Given the description of an element on the screen output the (x, y) to click on. 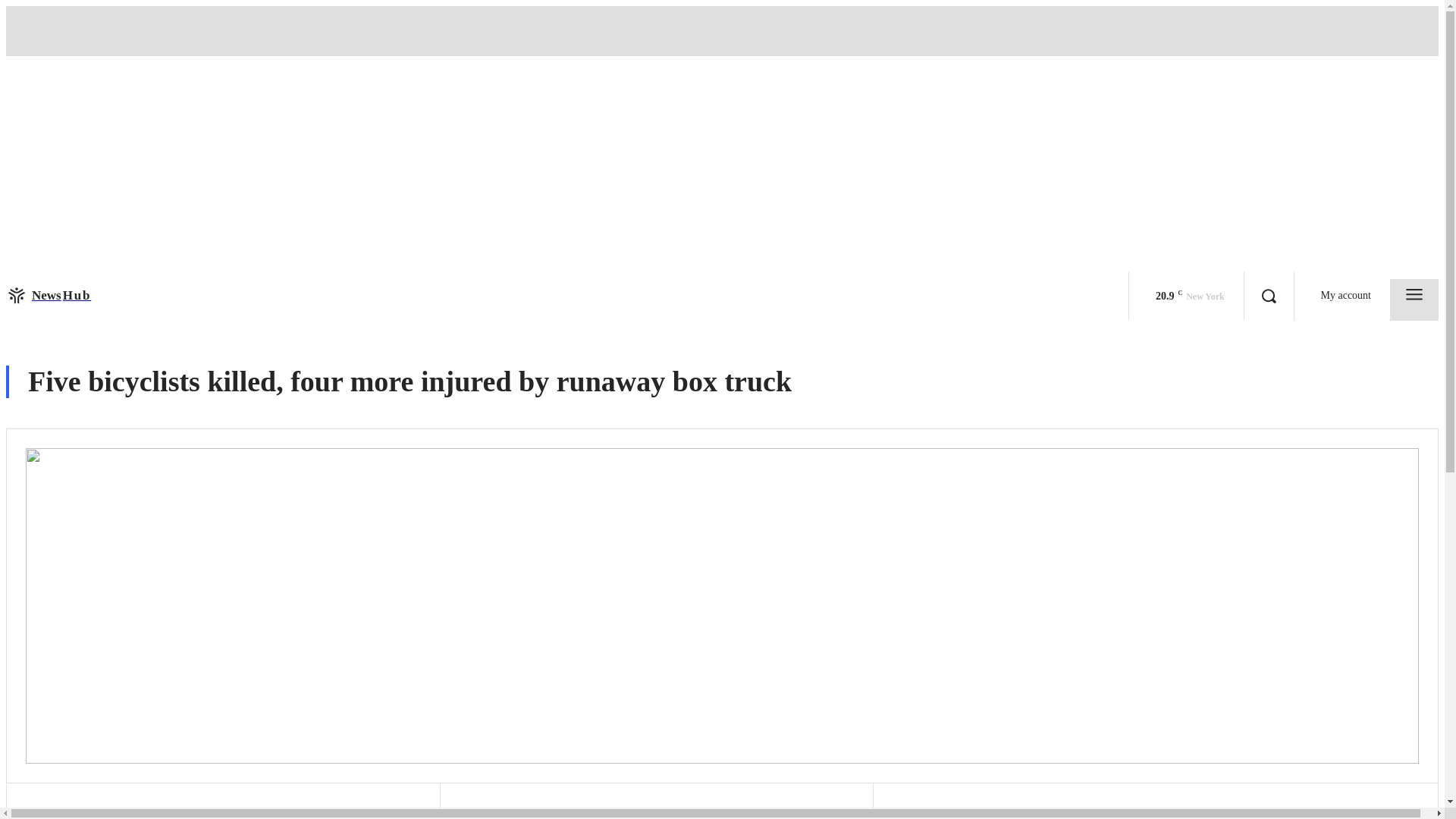
bike 1 (47, 295)
